Given the description of an element on the screen output the (x, y) to click on. 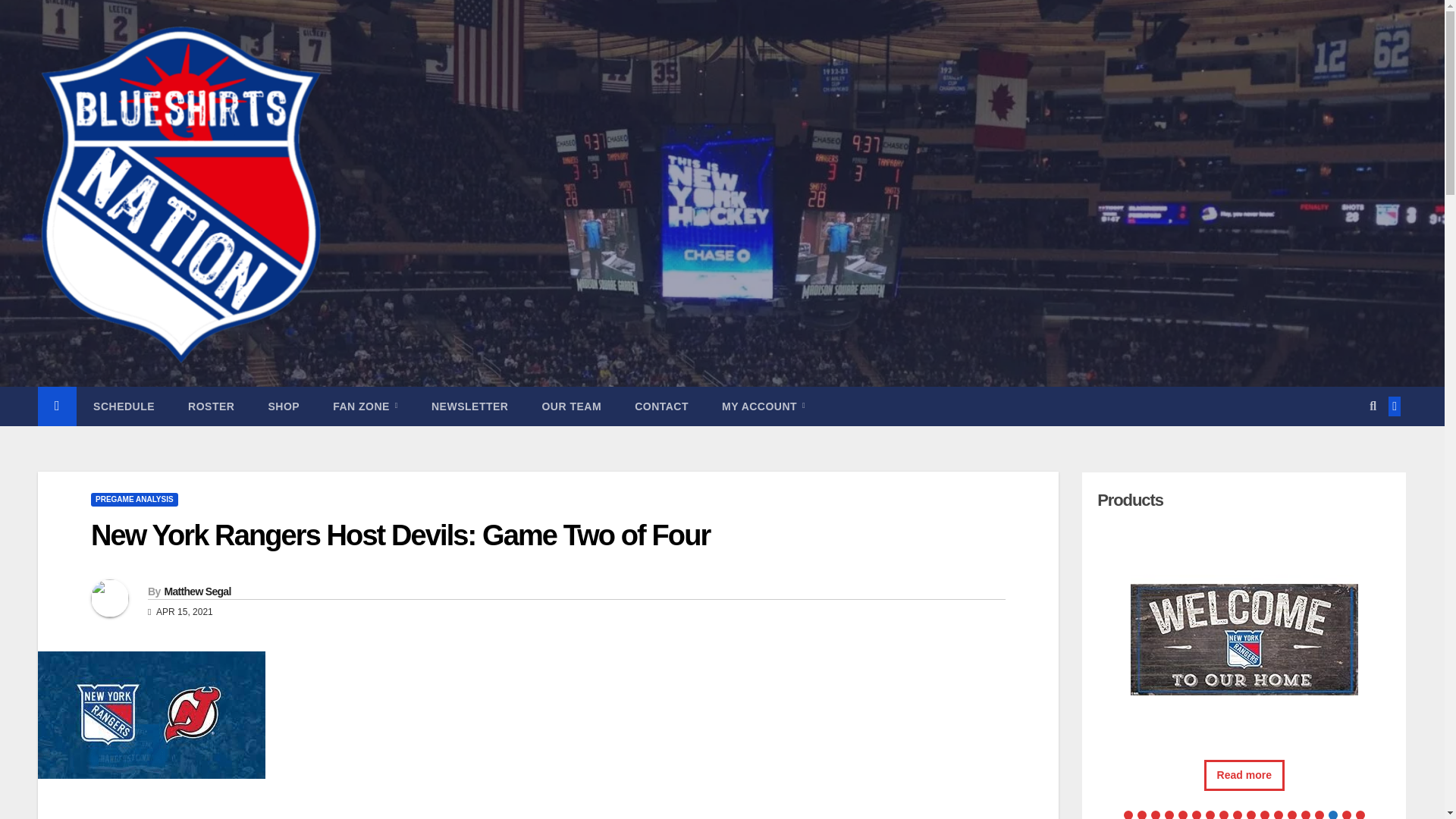
NEWSLETTER (469, 405)
Contact (660, 405)
CONTACT (660, 405)
My account (763, 405)
ROSTER (210, 405)
SCHEDULE (124, 405)
Matthew Segal (196, 591)
Fan Zone (364, 405)
New York Rangers Host Devils: Game Two of Four (400, 535)
Shop (282, 405)
SHOP (282, 405)
Newsletter (469, 405)
Schedule (124, 405)
PREGAME ANALYSIS (133, 499)
FAN ZONE (364, 405)
